Given the description of an element on the screen output the (x, y) to click on. 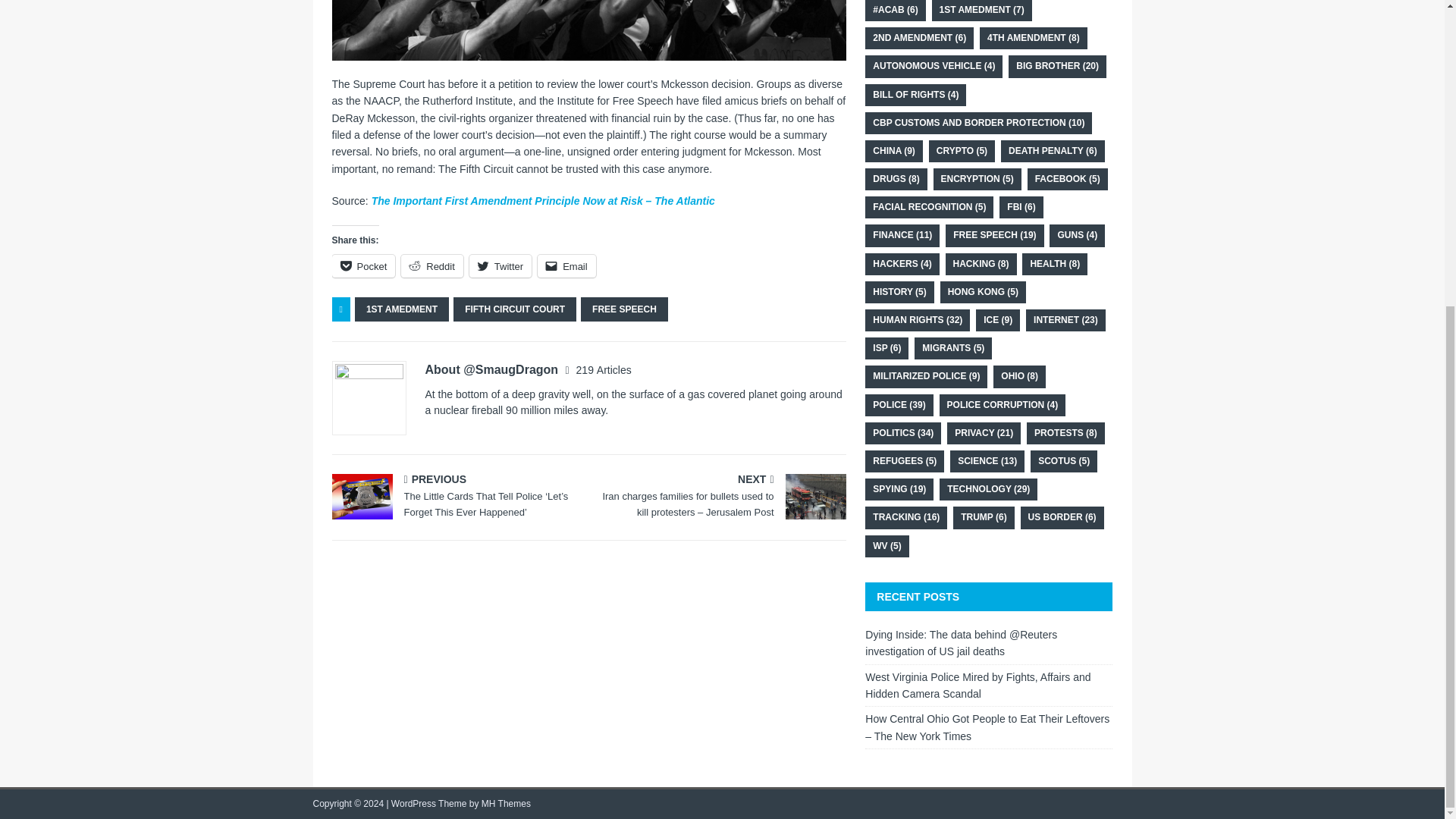
219 Articles (603, 369)
FREE SPEECH (624, 309)
1ST AMEDMENT (401, 309)
Click to email a link to a friend (566, 265)
Email (566, 265)
Pocket (363, 265)
Click to share on Reddit (432, 265)
FIFTH CIRCUIT COURT (514, 309)
Reddit (432, 265)
Click to share on Twitter (499, 265)
Click to share on Pocket (363, 265)
Twitter (499, 265)
The Important First Amendment Principle Now at Risk (588, 30)
